Given the description of an element on the screen output the (x, y) to click on. 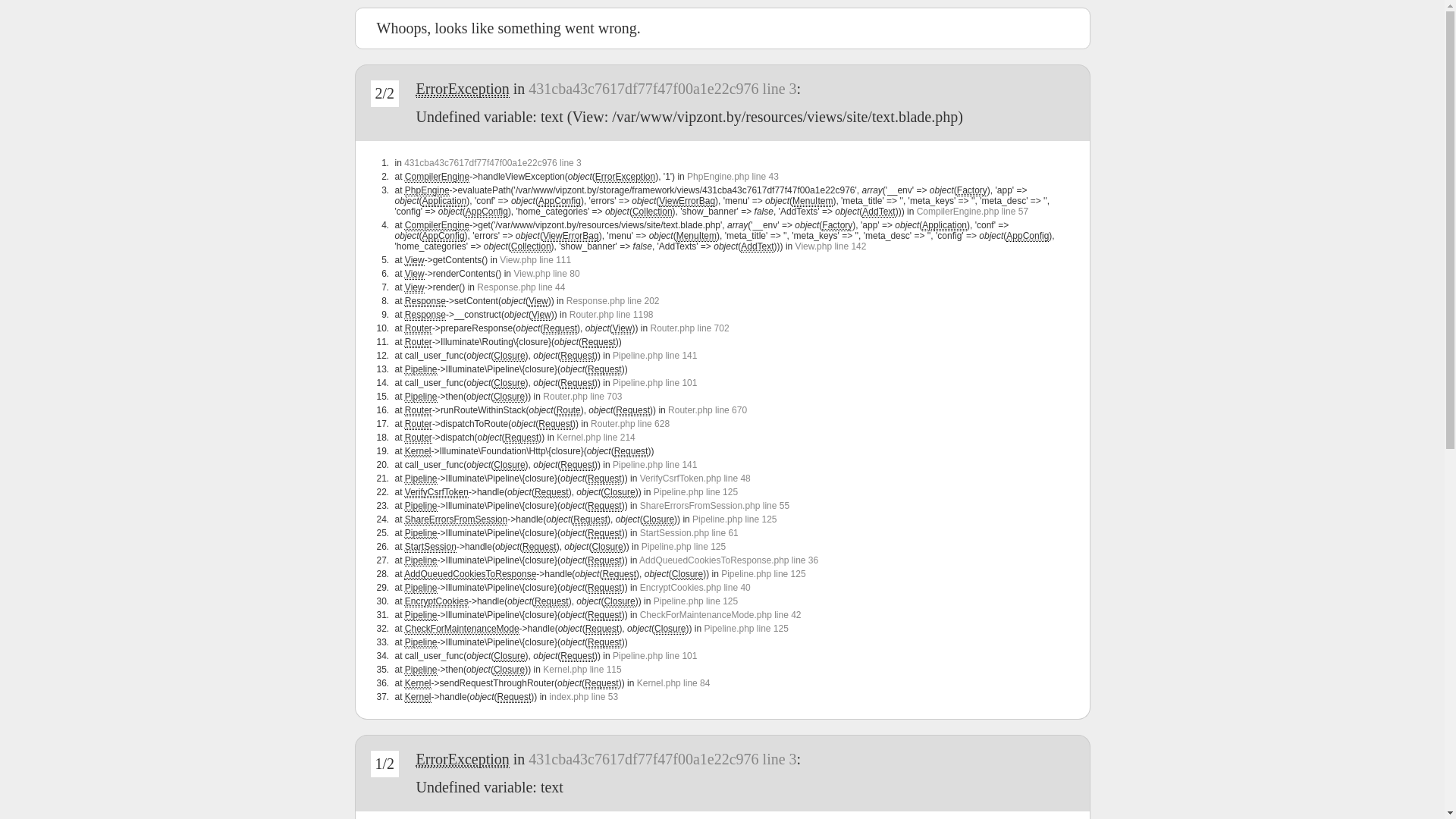
Router.php line 670 Element type: text (707, 409)
index.php line 53 Element type: text (583, 696)
Response.php line 202 Element type: text (612, 300)
StartSession.php line 61 Element type: text (689, 532)
Router.php line 628 Element type: text (629, 423)
Pipeline.php line 141 Element type: text (654, 464)
431cba43c7617df77f47f00a1e22c976 line 3 Element type: text (662, 758)
AddQueuedCookiesToResponse.php line 36 Element type: text (728, 560)
Router.php line 703 Element type: text (581, 396)
View.php line 80 Element type: text (546, 273)
Pipeline.php line 125 Element type: text (695, 601)
431cba43c7617df77f47f00a1e22c976 line 3 Element type: text (662, 88)
Router.php line 702 Element type: text (689, 328)
View.php line 142 Element type: text (830, 246)
CheckForMaintenanceMode.php line 42 Element type: text (720, 614)
Pipeline.php line 125 Element type: text (734, 519)
Kernel.php line 115 Element type: text (581, 669)
Pipeline.php line 125 Element type: text (683, 546)
EncryptCookies.php line 40 Element type: text (695, 587)
Kernel.php line 84 Element type: text (673, 682)
PhpEngine.php line 43 Element type: text (732, 176)
431cba43c7617df77f47f00a1e22c976 line 3 Element type: text (492, 162)
Pipeline.php line 125 Element type: text (745, 628)
Pipeline.php line 101 Element type: text (654, 382)
Pipeline.php line 141 Element type: text (654, 355)
ShareErrorsFromSession.php line 55 Element type: text (714, 505)
Router.php line 1198 Element type: text (611, 314)
Response.php line 44 Element type: text (520, 287)
VerifyCsrfToken.php line 48 Element type: text (695, 478)
Pipeline.php line 125 Element type: text (695, 491)
View.php line 111 Element type: text (535, 259)
CompilerEngine.php line 57 Element type: text (972, 211)
Kernel.php line 214 Element type: text (595, 437)
Pipeline.php line 125 Element type: text (763, 573)
Pipeline.php line 101 Element type: text (654, 655)
